Given the description of an element on the screen output the (x, y) to click on. 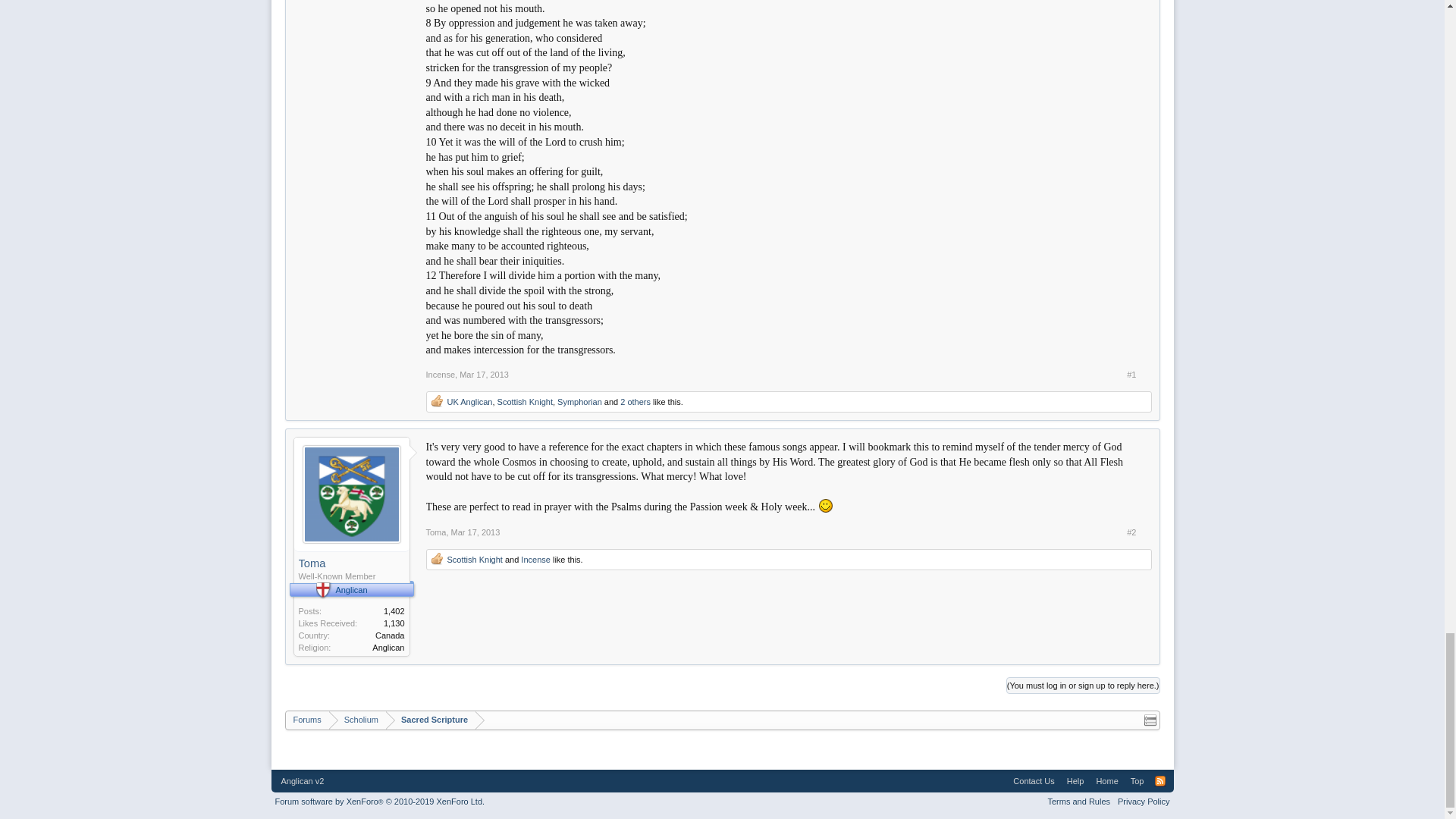
Permalink (484, 374)
RSS feed for Anglican Forums (1160, 780)
Forums (307, 720)
Mar 17, 2013 (475, 532)
Incense (535, 559)
Toma (351, 563)
Mar 17, 2013 (484, 374)
Scottish Knight (525, 401)
1,402 (394, 610)
Incense (440, 374)
Scottish Knight (474, 559)
Open quick navigation (1149, 720)
Symphorian (579, 401)
Scholium (357, 720)
Toma (436, 532)
